Given the description of an element on the screen output the (x, y) to click on. 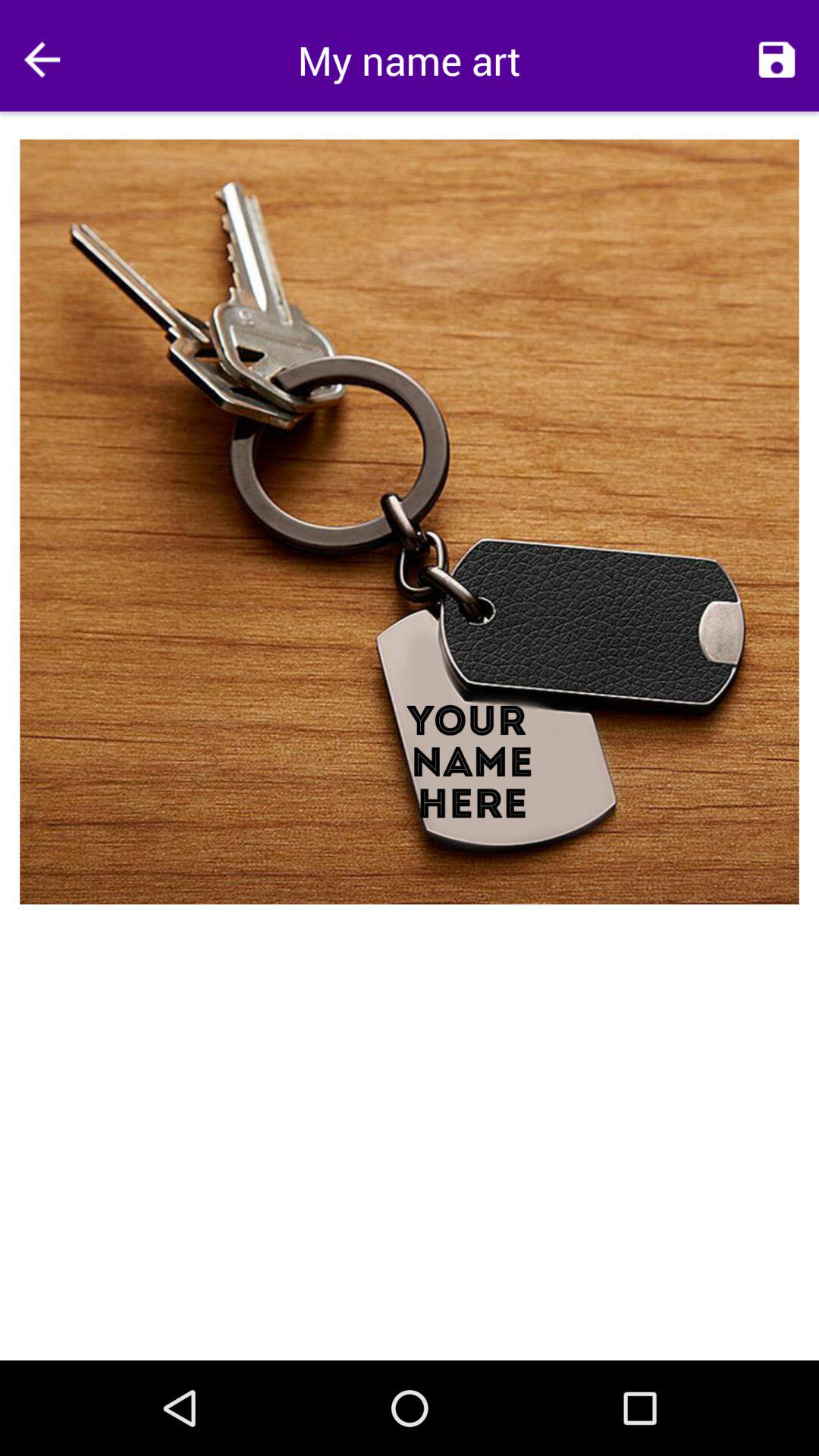
click the icon at the top left corner (41, 59)
